Given the description of an element on the screen output the (x, y) to click on. 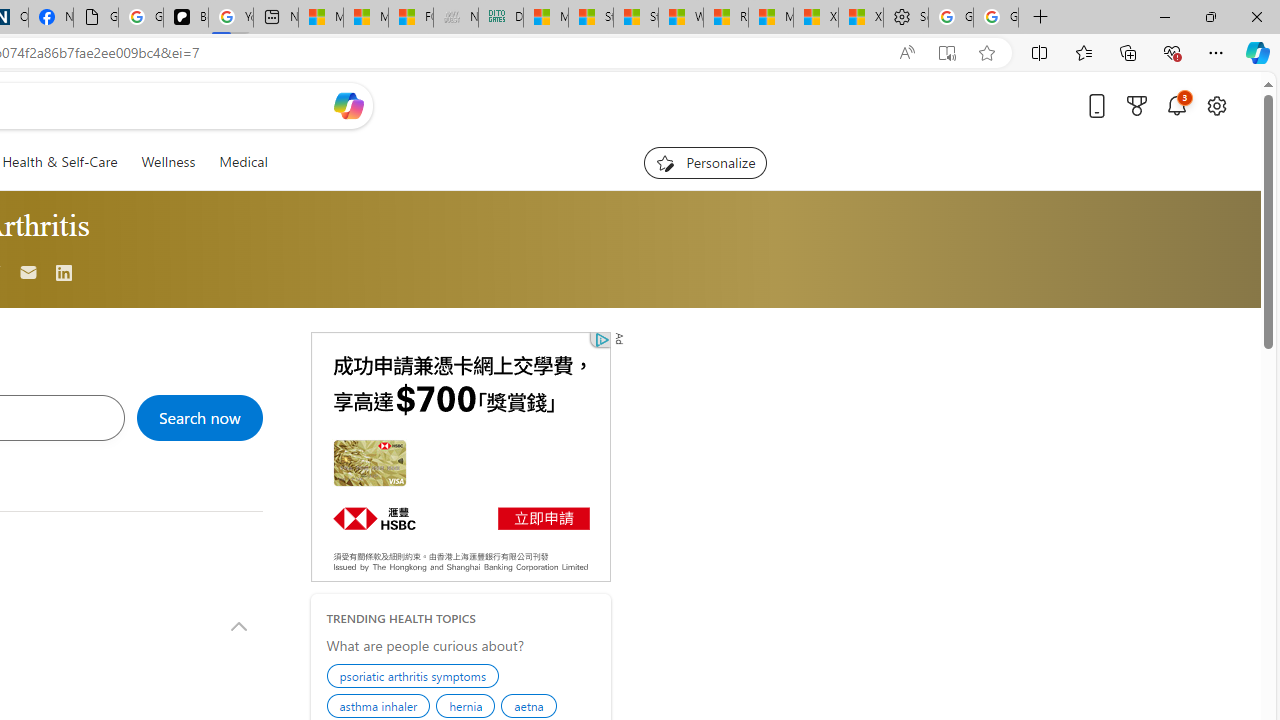
Class: qc-adchoices-icon (602, 339)
Wellness (168, 162)
